Given the description of an element on the screen output the (x, y) to click on. 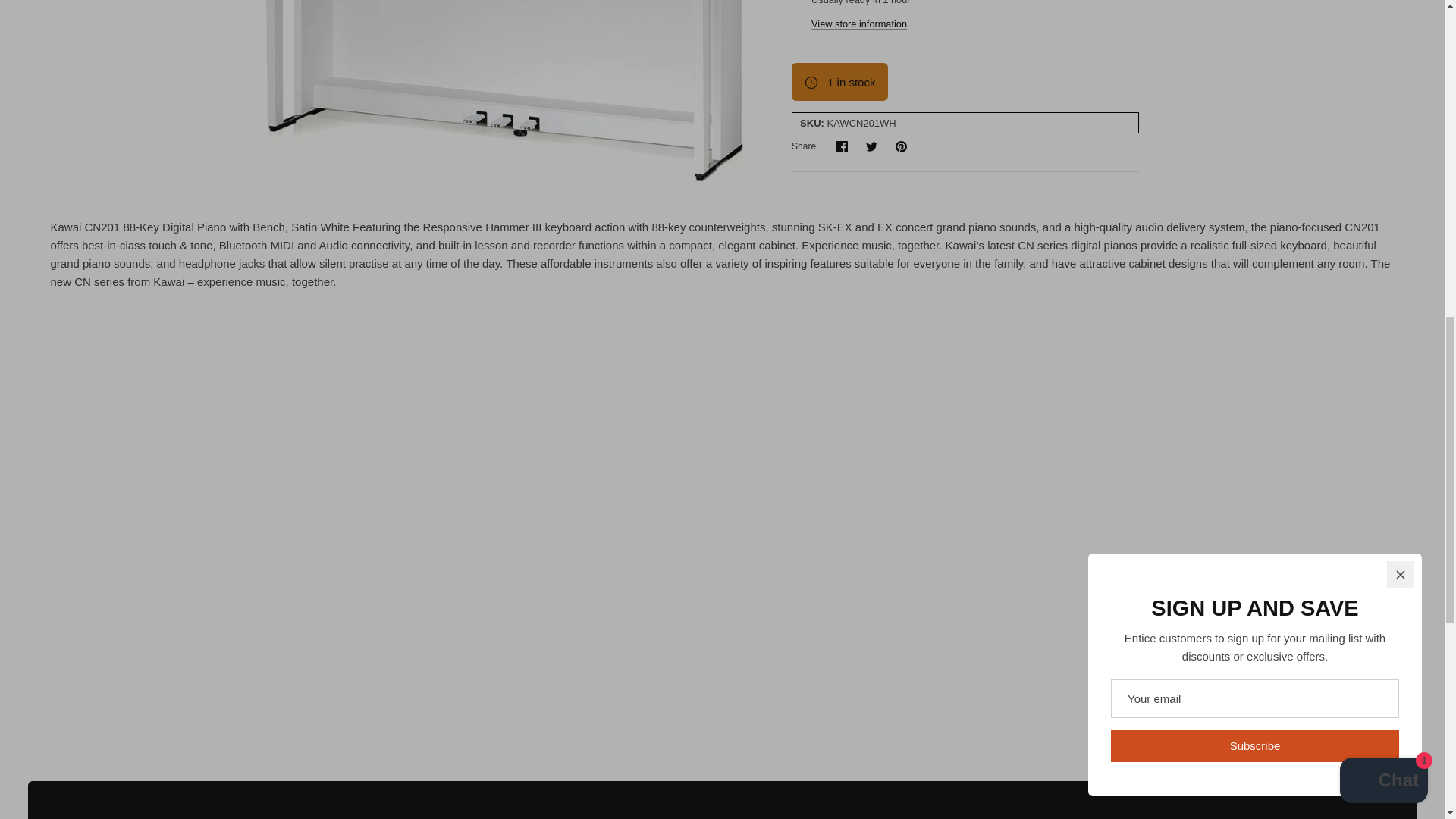
Facebook (841, 146)
Twitter (871, 146)
Pinterest (842, 146)
View store information (901, 146)
